Given the description of an element on the screen output the (x, y) to click on. 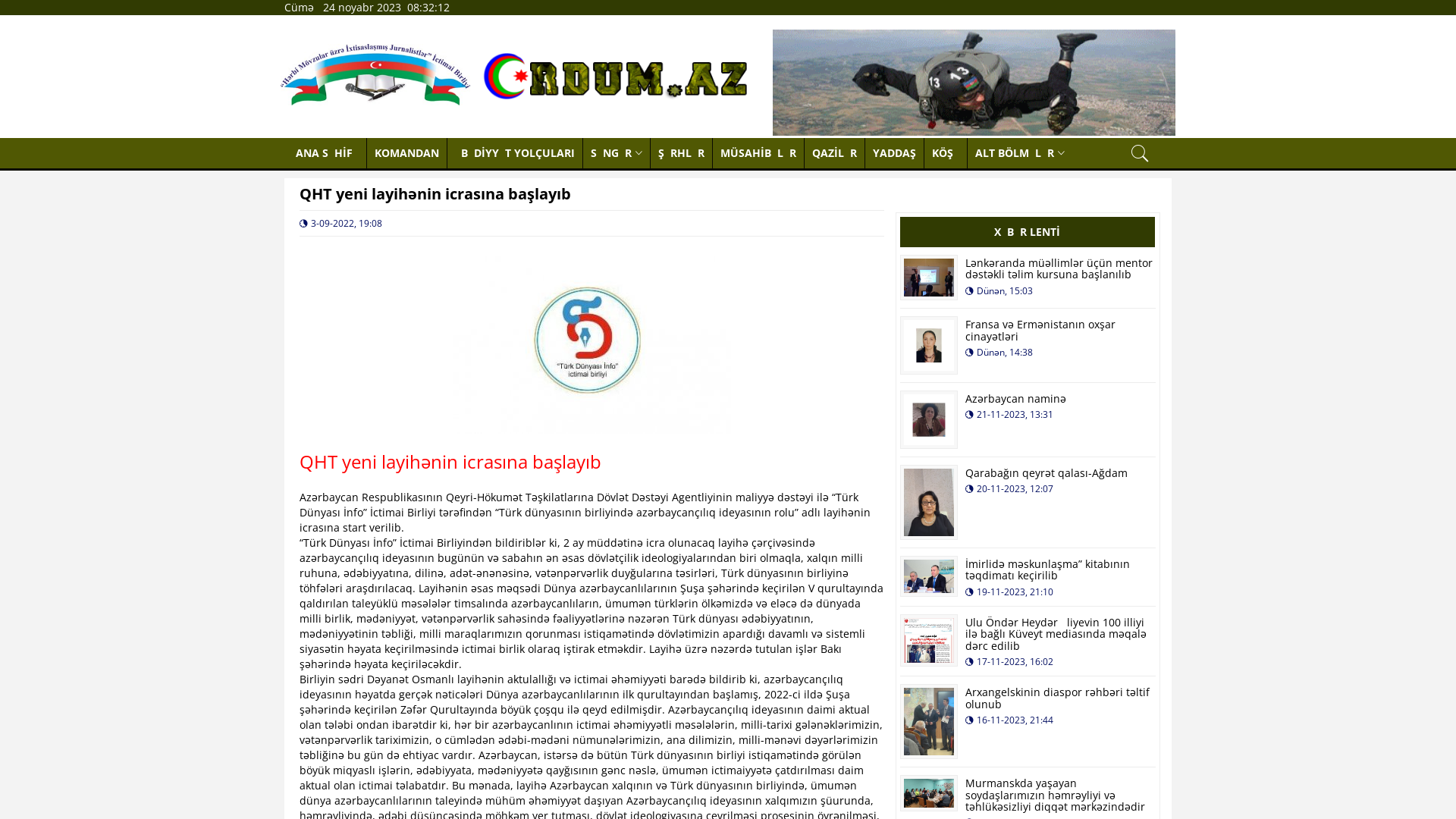
KOMANDAN Element type: text (407, 153)
